Given the description of an element on the screen output the (x, y) to click on. 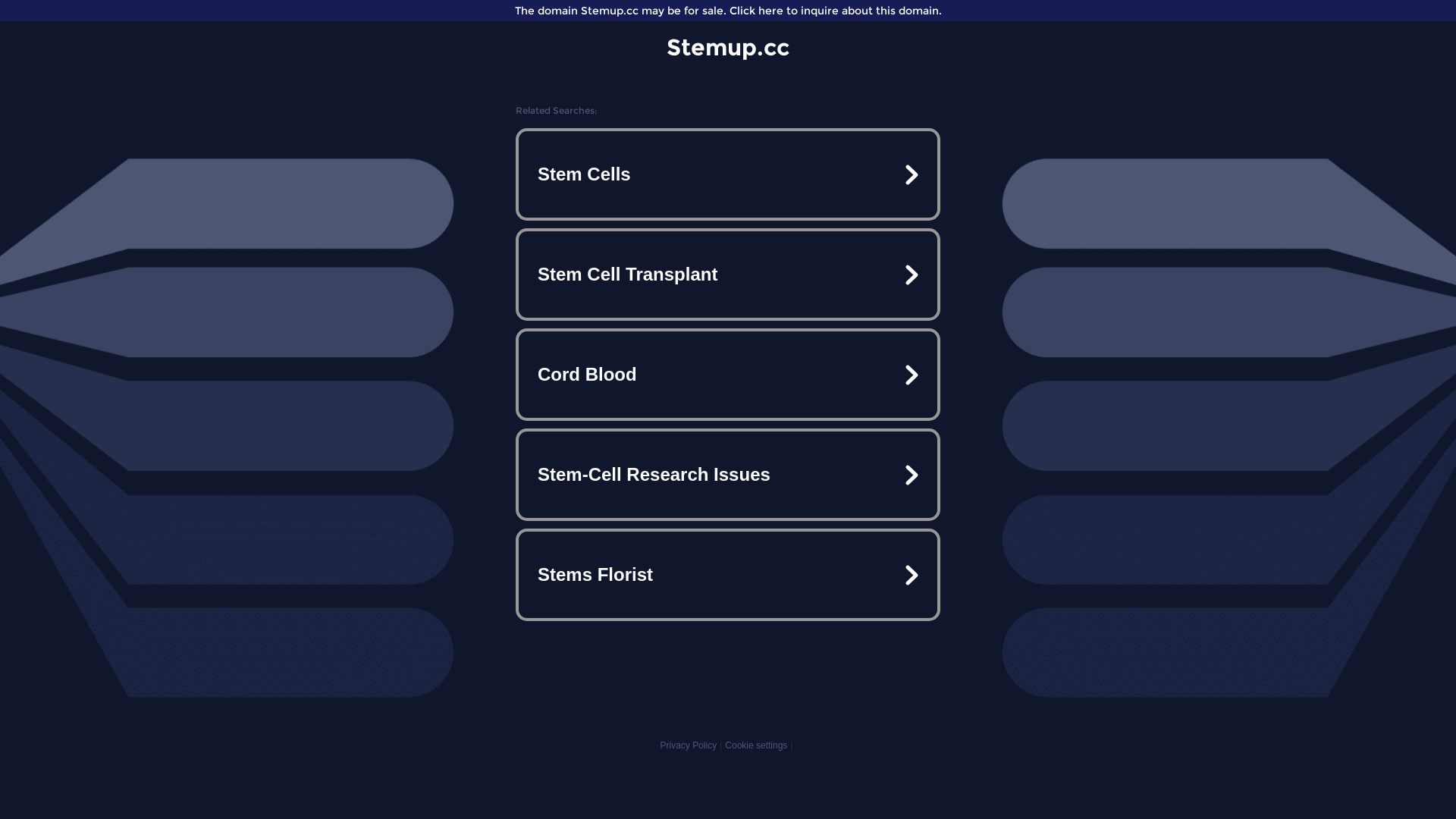
Stems Florist Element type: text (727, 574)
Stem Cell Transplant Element type: text (727, 274)
Privacy Policy Element type: text (687, 745)
Stem Cells Element type: text (727, 174)
Stemup.cc Element type: text (727, 47)
Cord Blood Element type: text (727, 374)
Stem-Cell Research Issues Element type: text (727, 474)
Cookie settings Element type: text (755, 745)
